Given the description of an element on the screen output the (x, y) to click on. 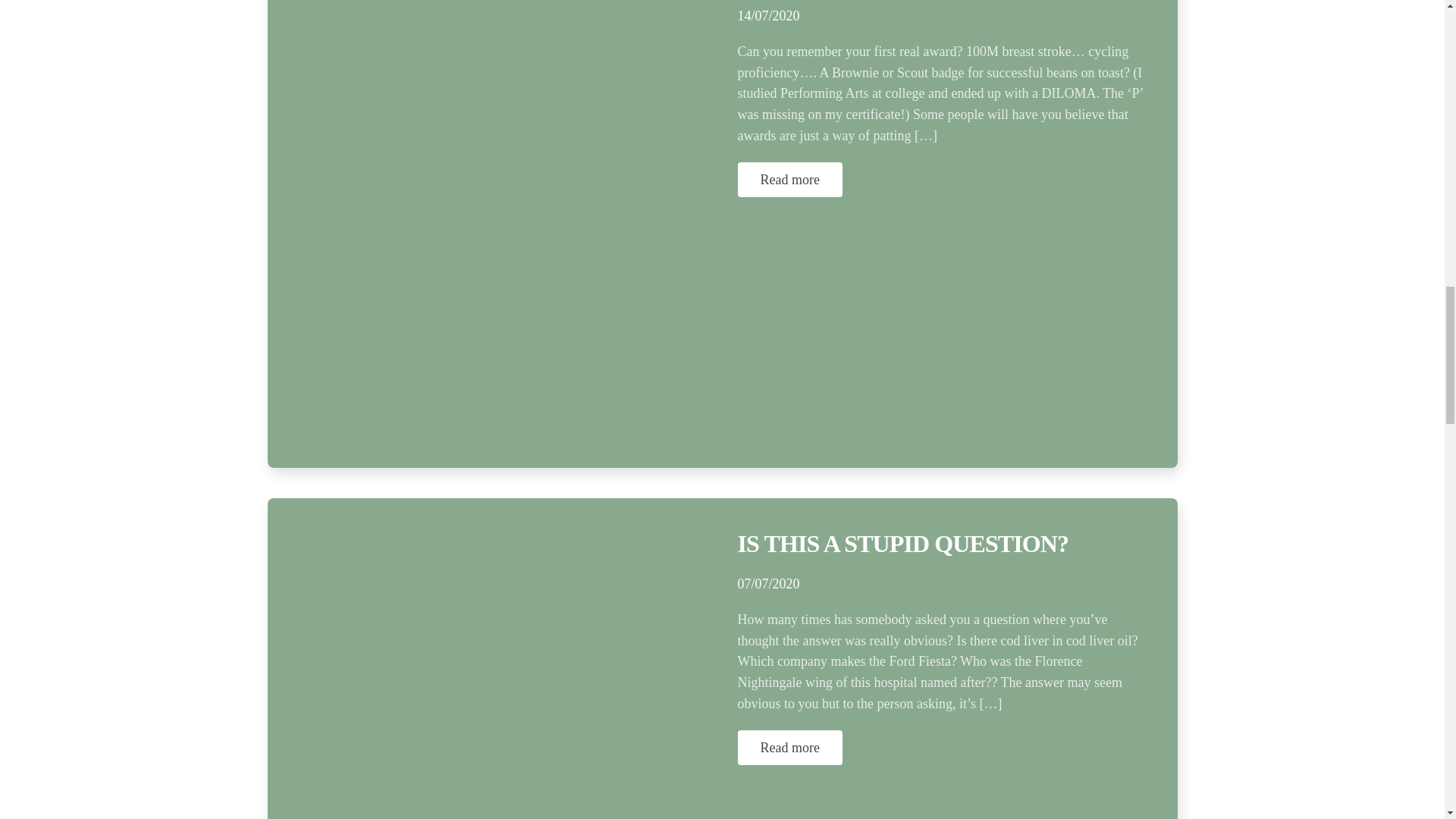
Read more (788, 747)
Read more (788, 179)
